Given the description of an element on the screen output the (x, y) to click on. 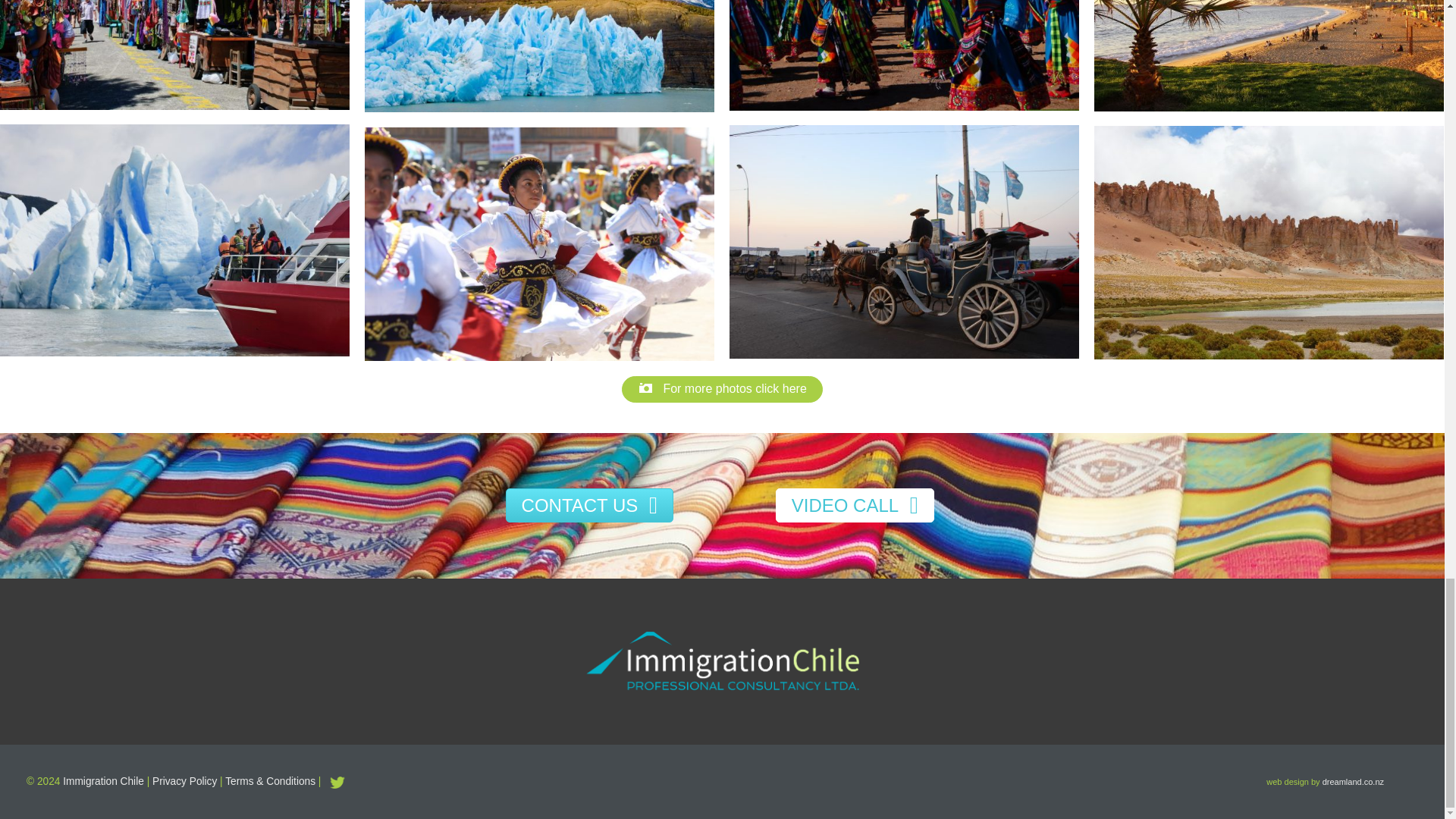
VIDEO CALL (855, 505)
For more photos click here (721, 388)
CONTACT US (589, 505)
